Given the description of an element on the screen output the (x, y) to click on. 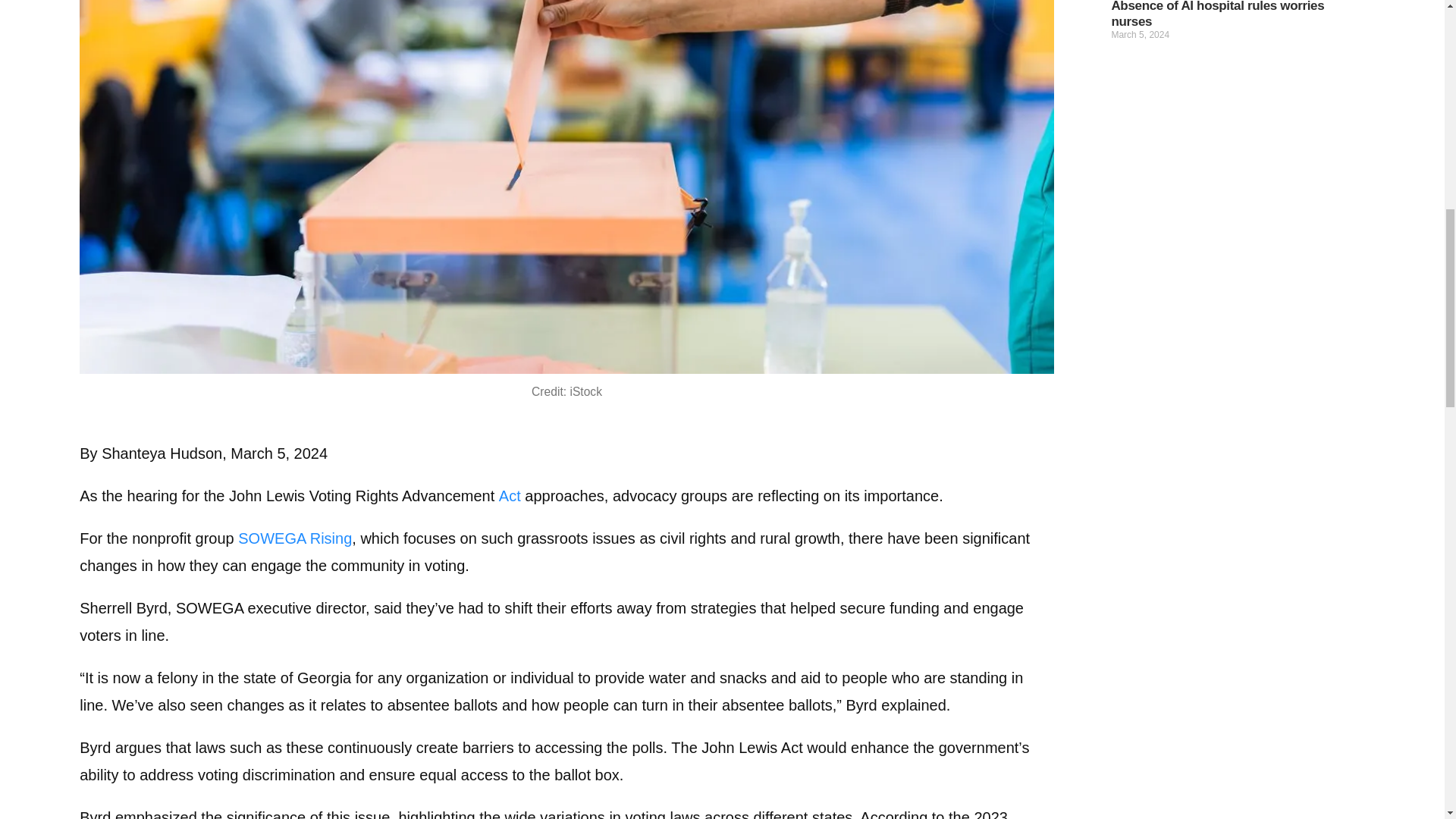
Absence of AI hospital rules worries nurses (1216, 13)
SOWEGA Rising (295, 538)
Act (510, 495)
